Given the description of an element on the screen output the (x, y) to click on. 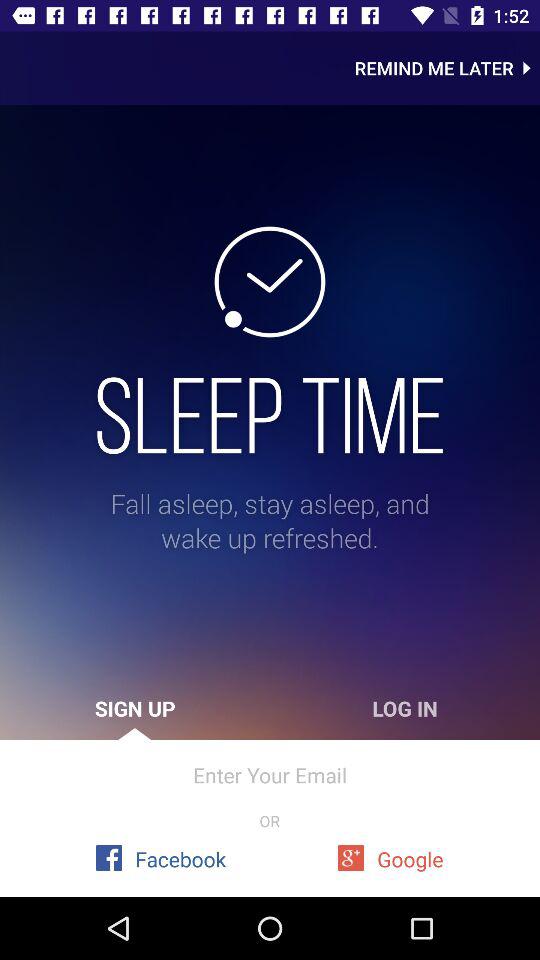
press icon at the top right corner (447, 67)
